Given the description of an element on the screen output the (x, y) to click on. 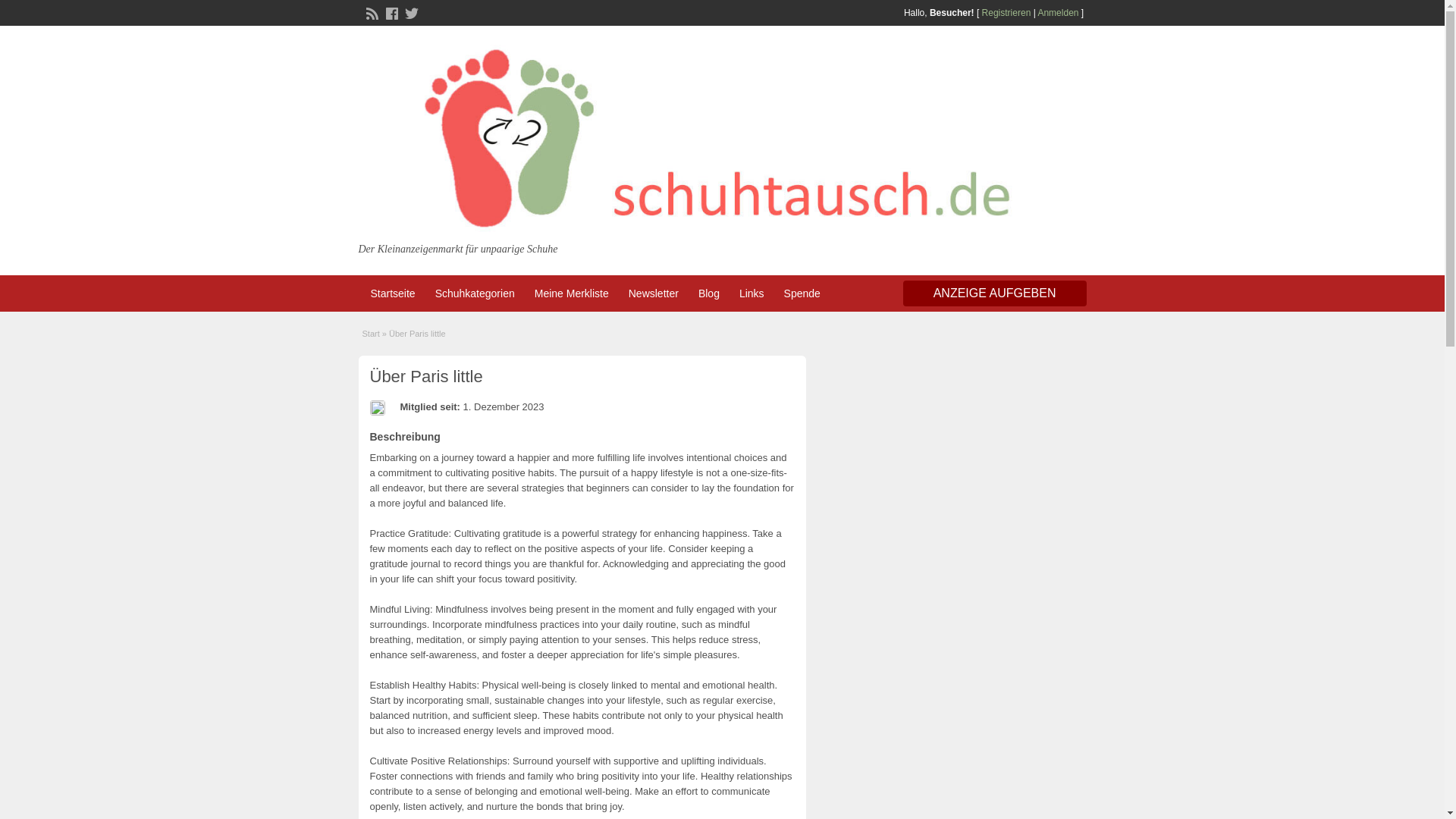
Registrieren (1005, 12)
Facebook (390, 11)
Startseite (392, 292)
Schuhkategorien (475, 292)
RSS Feed (369, 11)
Anmelden (1057, 12)
Twitter (408, 11)
